Given the description of an element on the screen output the (x, y) to click on. 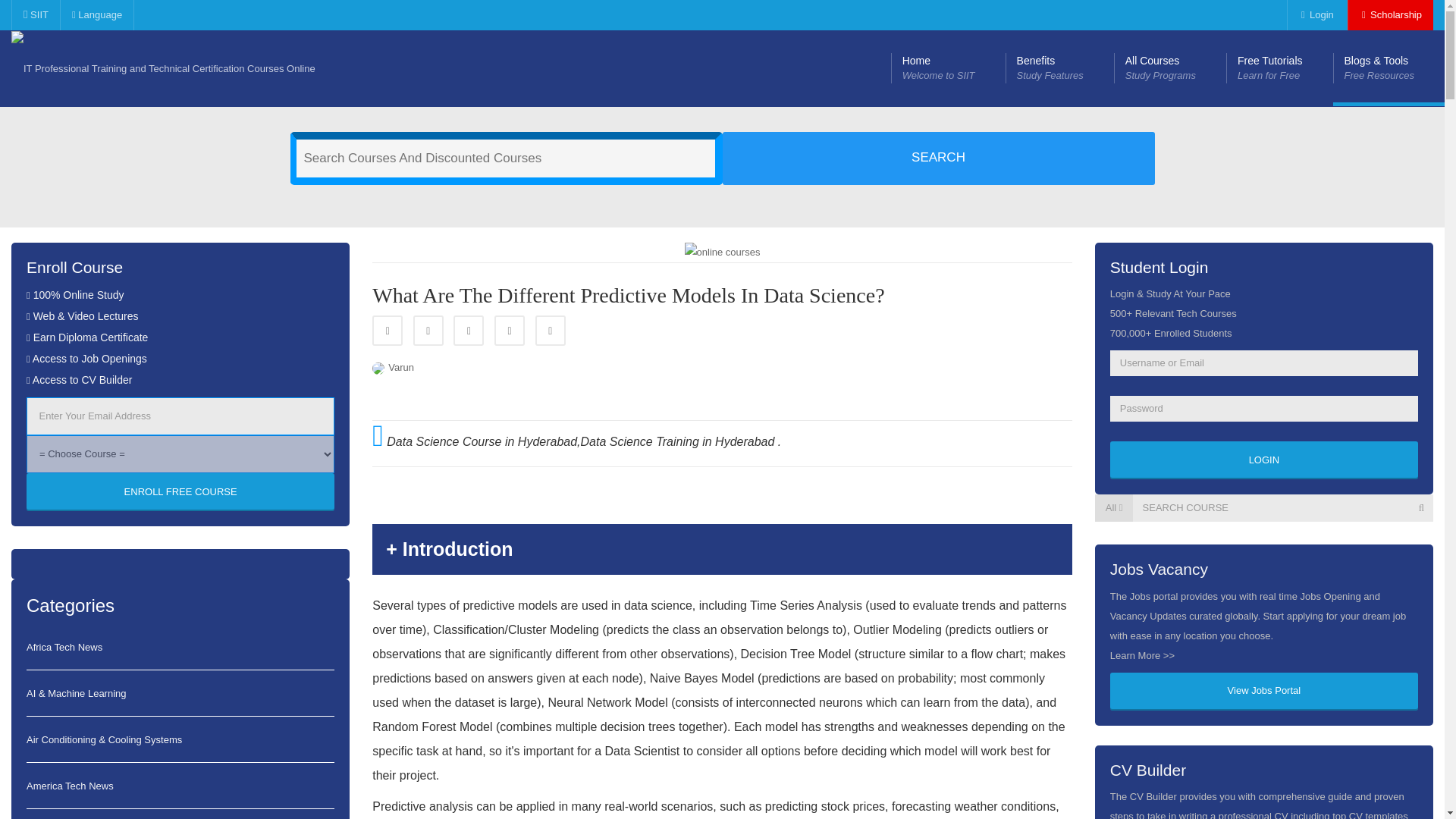
Portal Login (1315, 15)
Share on Twitter (428, 330)
View Jobs Portal (1263, 691)
Share on Google Plus (467, 330)
Language (96, 15)
Scholarship (1390, 15)
SIIT - Scholars International Institute Of Technology (163, 67)
Pin this (1059, 68)
ENROLL FREE COURSE (1169, 68)
 LOGIN  (509, 330)
SIIT (180, 492)
Email this (1279, 68)
